Given the description of an element on the screen output the (x, y) to click on. 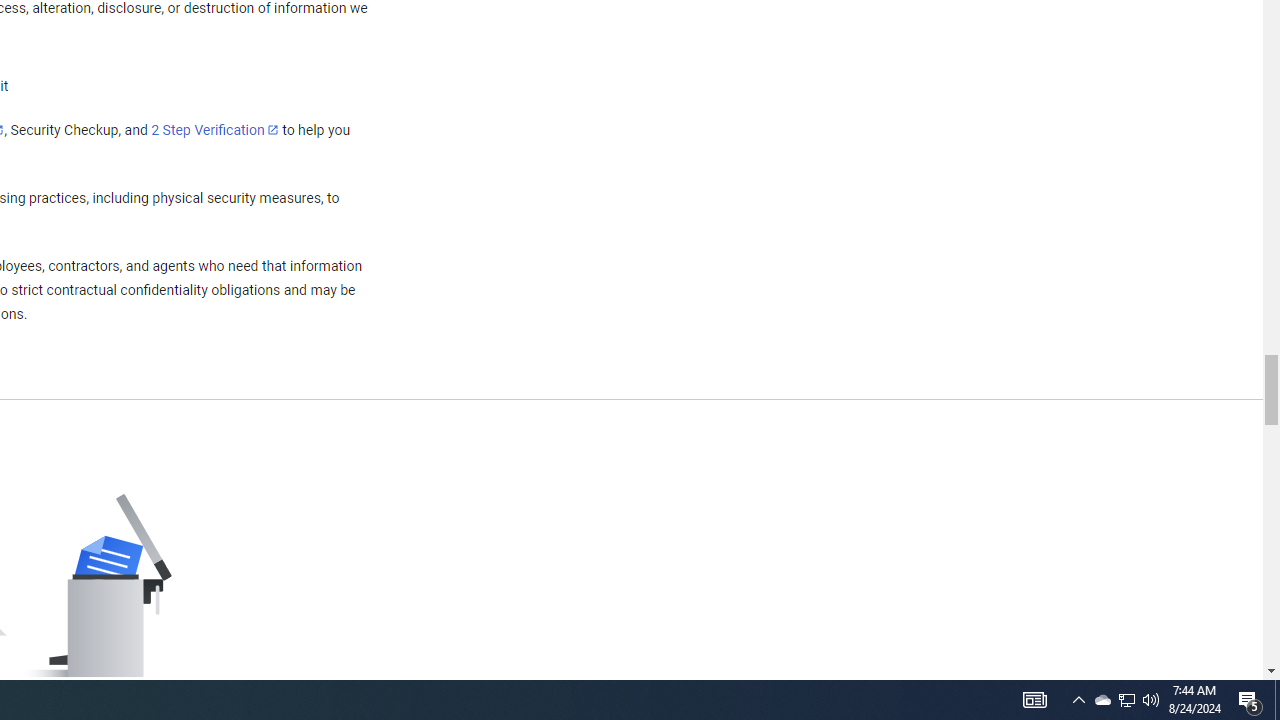
2 Step Verification (215, 129)
